Given the description of an element on the screen output the (x, y) to click on. 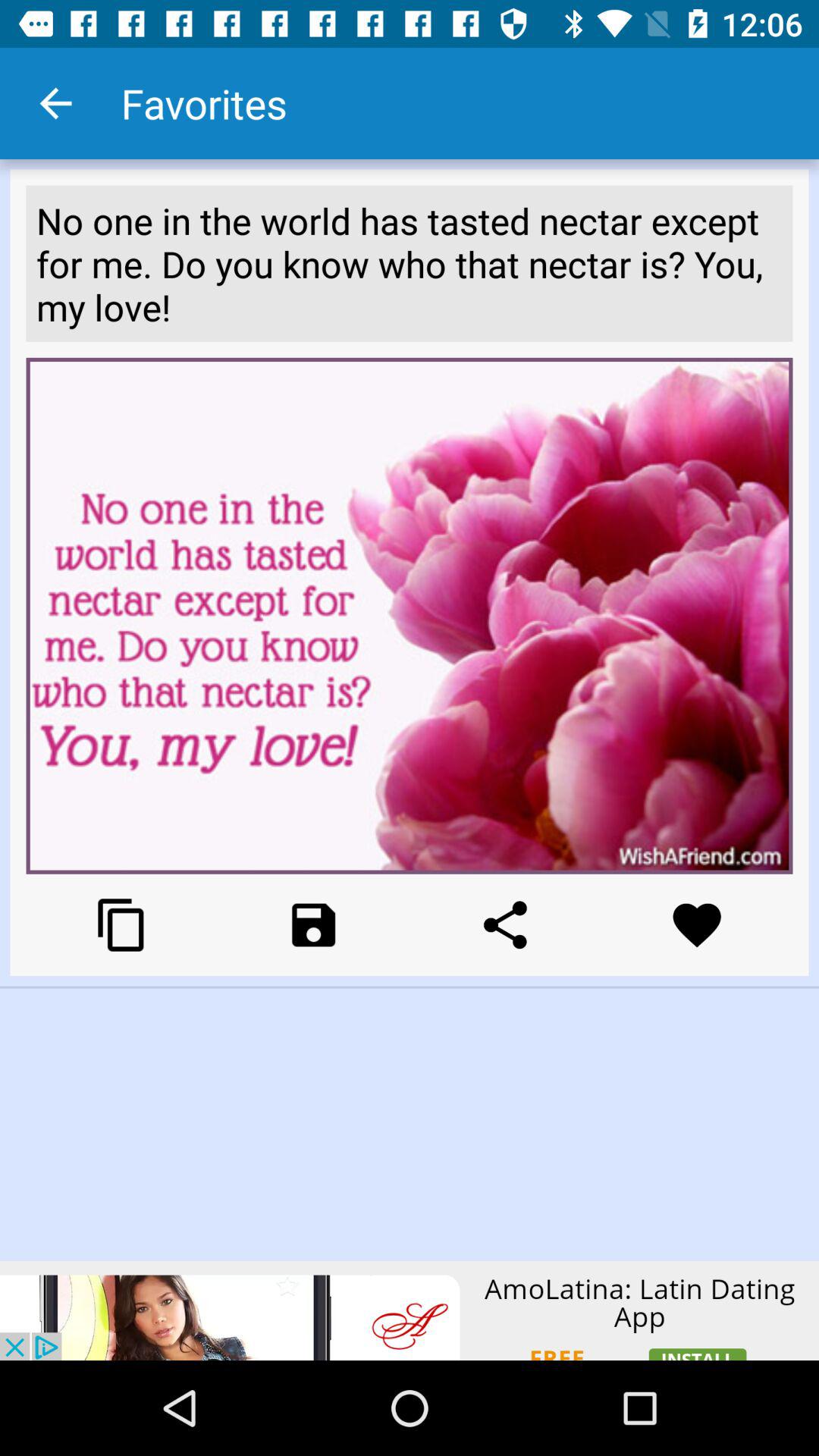
heart emoji (696, 925)
